Given the description of an element on the screen output the (x, y) to click on. 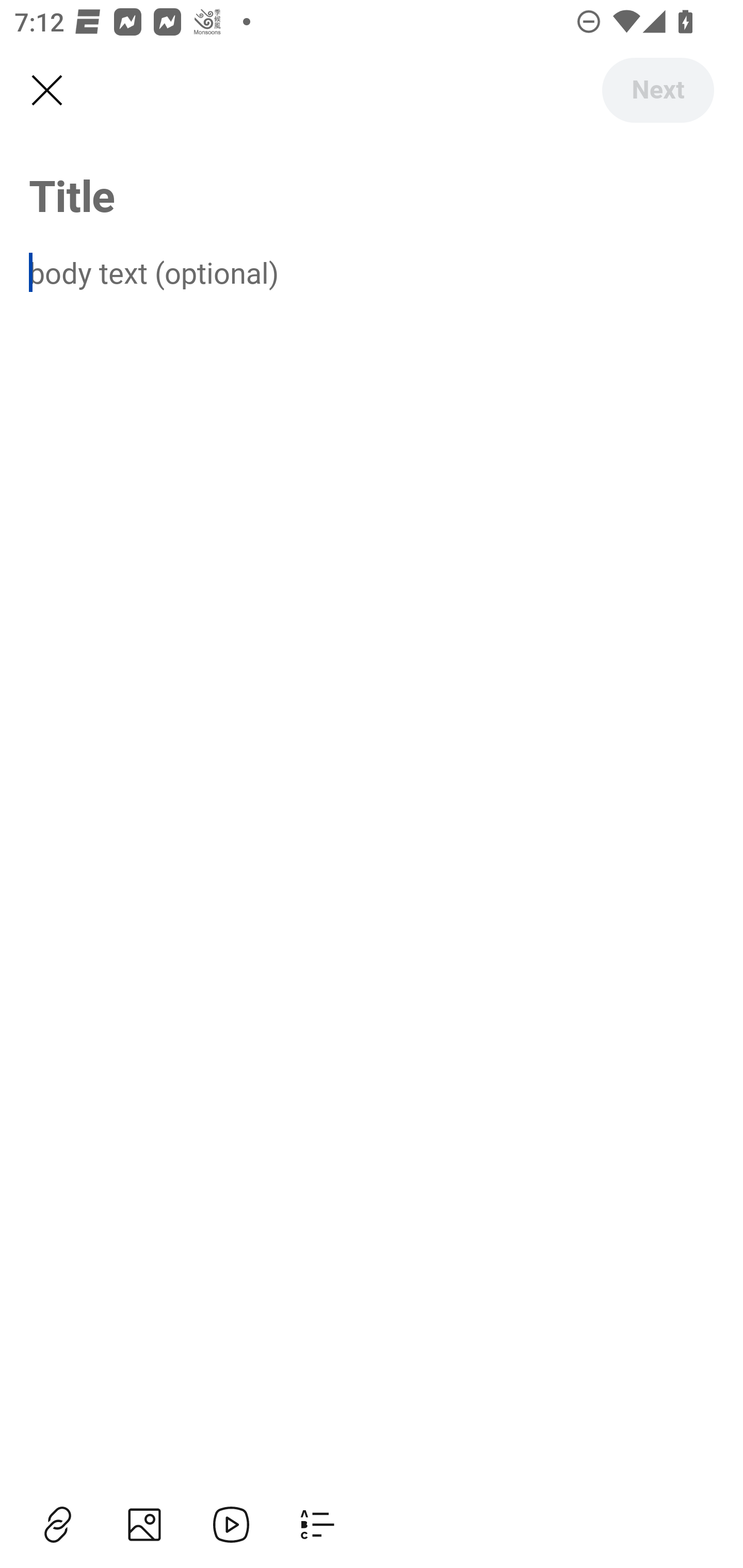
Close (46, 90)
Next (657, 90)
Post title (371, 195)
body text (optional) (371, 271)
